Given the description of an element on the screen output the (x, y) to click on. 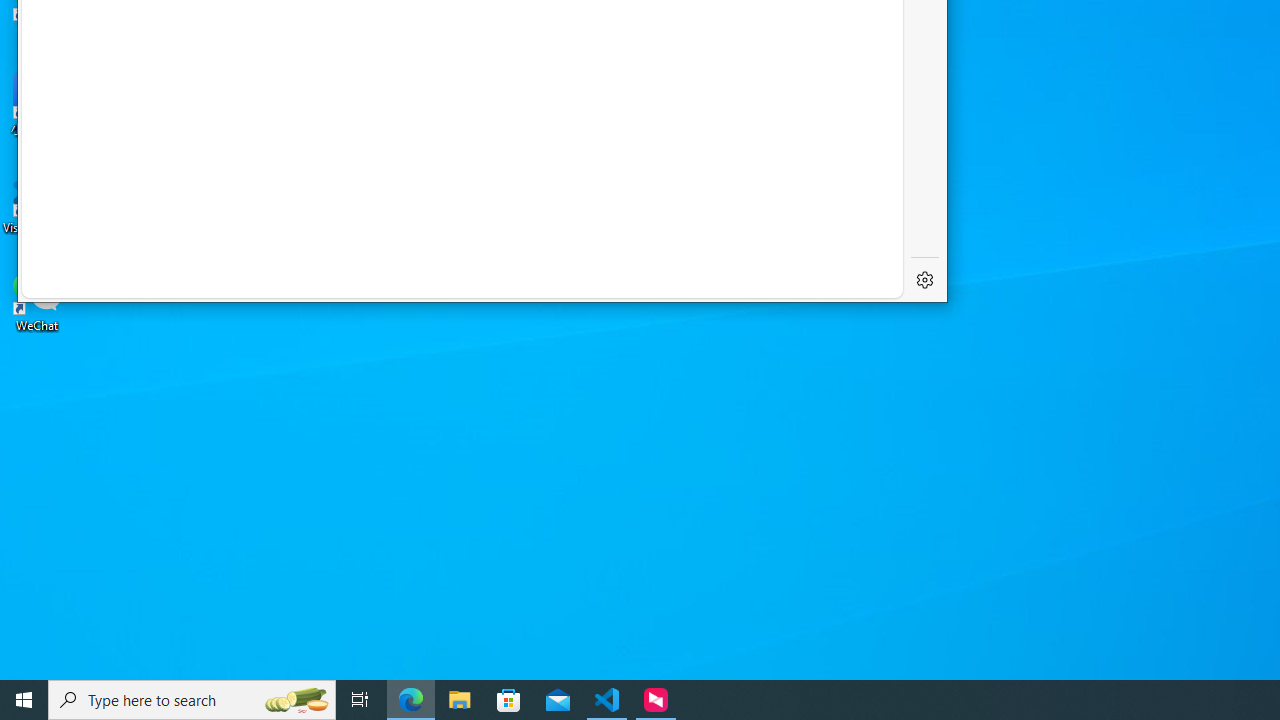
Task View (359, 699)
File Explorer (460, 699)
Microsoft Edge - 1 running window (411, 699)
Microsoft Store (509, 699)
Type here to search (191, 699)
Start (24, 699)
Search highlights icon opens search home window (295, 699)
Visual Studio Code - 1 running window (607, 699)
